Given the description of an element on the screen output the (x, y) to click on. 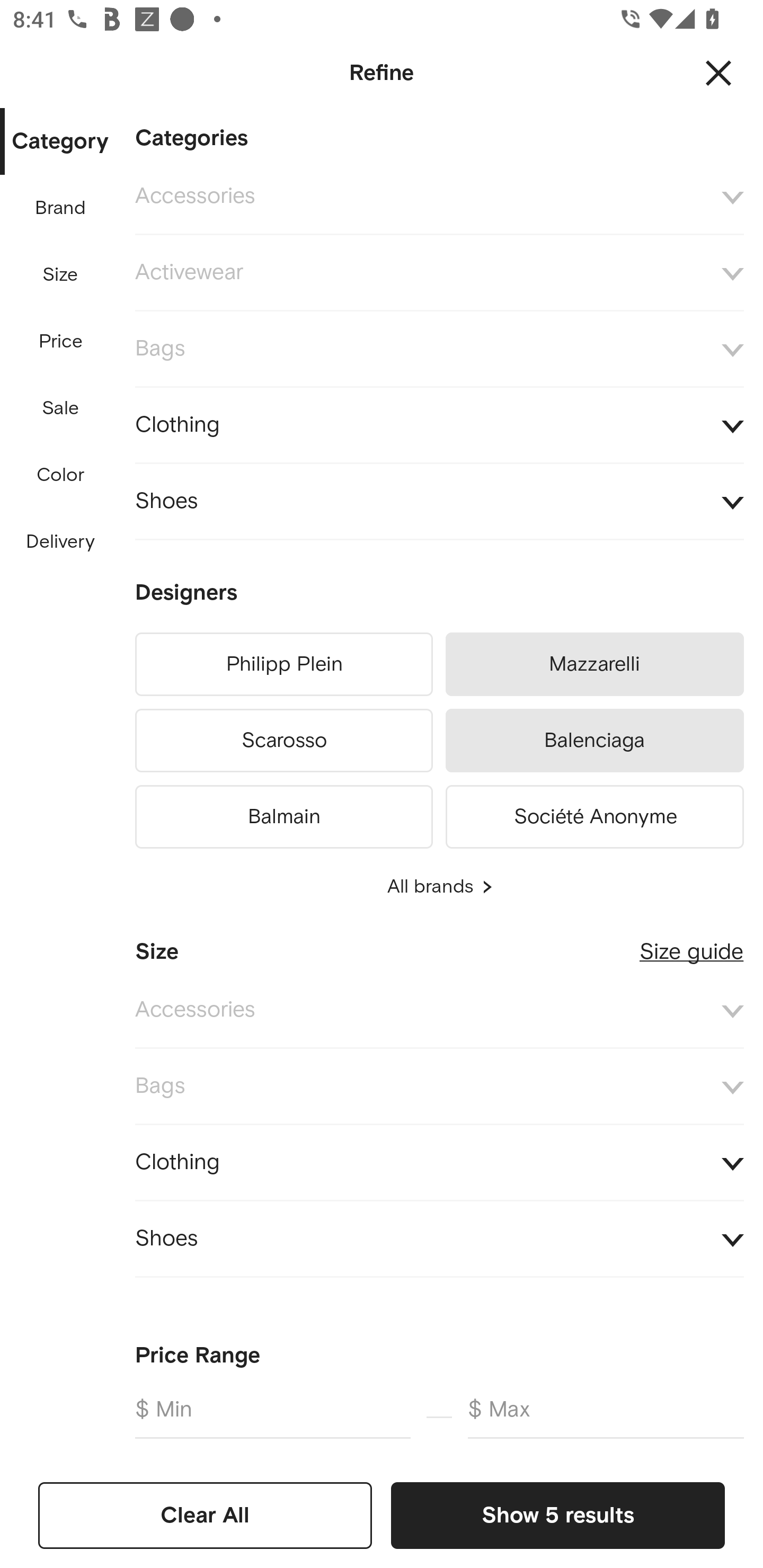
Category (60, 141)
Accessories (439, 196)
Brand (60, 208)
Activewear (439, 272)
Size (60, 274)
Price (60, 342)
Bags (439, 348)
Sale (60, 408)
Clothing (439, 425)
Color (60, 475)
Shoes (439, 501)
Delivery (60, 542)
Philipp Plein (283, 663)
Mazzarelli (594, 663)
Scarosso (283, 740)
Balenciaga (594, 740)
Balmain (283, 813)
Société Anonyme (594, 813)
All brands (439, 886)
Size guide (691, 944)
Accessories (439, 1010)
Bags (439, 1086)
Clothing (439, 1162)
Shoes (439, 1239)
$ Min (272, 1416)
$ Max (605, 1416)
Clear All (205, 1515)
Show 5 results (557, 1515)
